Given the description of an element on the screen output the (x, y) to click on. 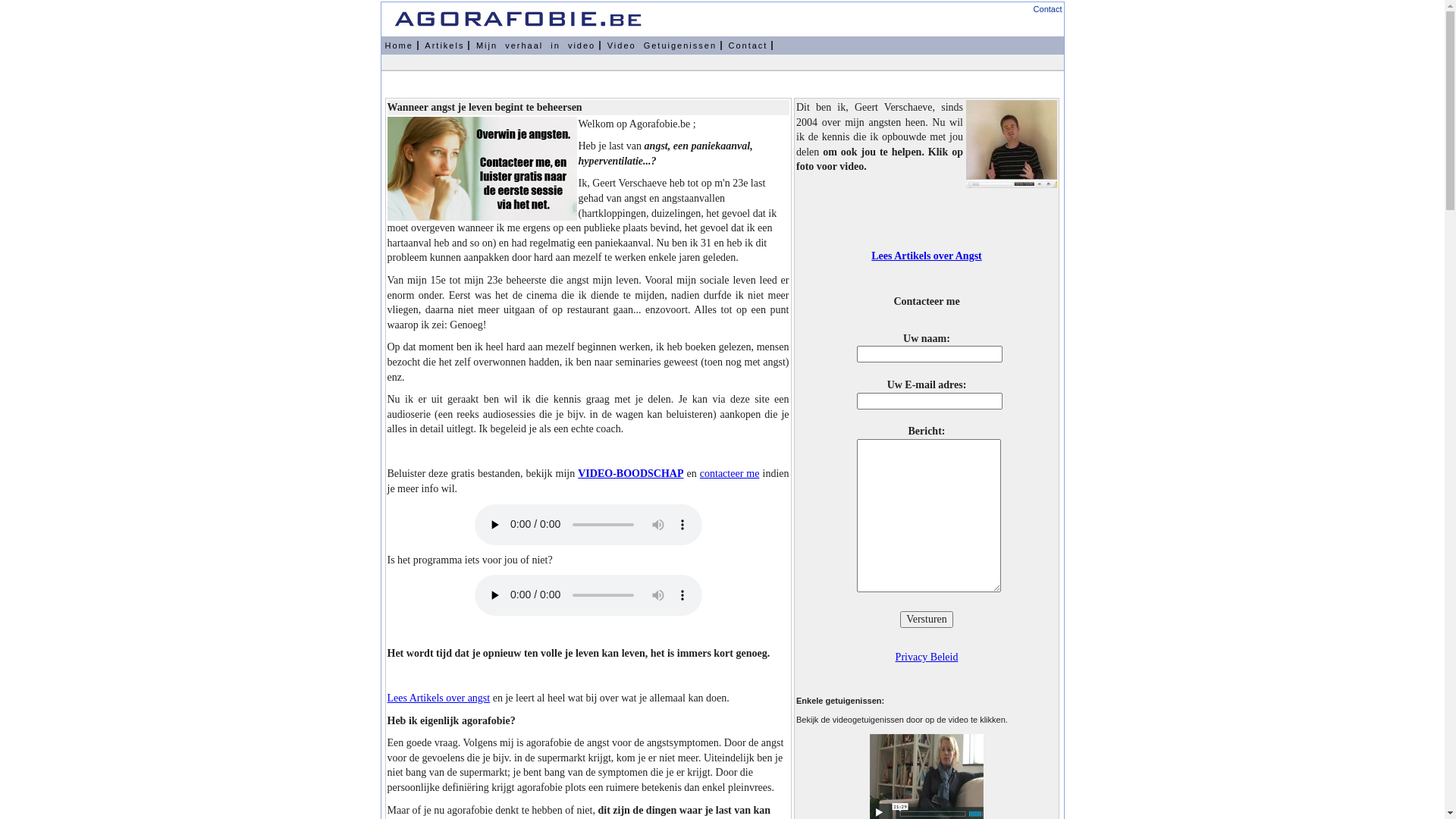
Contact Element type: text (1047, 9)
Lees Artikels over Angst Element type: text (926, 255)
Contact Element type: text (748, 45)
contacteer me Element type: text (729, 473)
Versturen Element type: text (926, 619)
Artikels Element type: text (444, 45)
Mijn verhaal in video Element type: text (536, 45)
VIDEO-BOODSCHAP Element type: text (630, 473)
Privacy Beleid Element type: text (926, 657)
Video Getuigenissen Element type: text (662, 45)
Home Element type: text (398, 45)
Lees Artikels over angst Element type: text (437, 697)
